Given the description of an element on the screen output the (x, y) to click on. 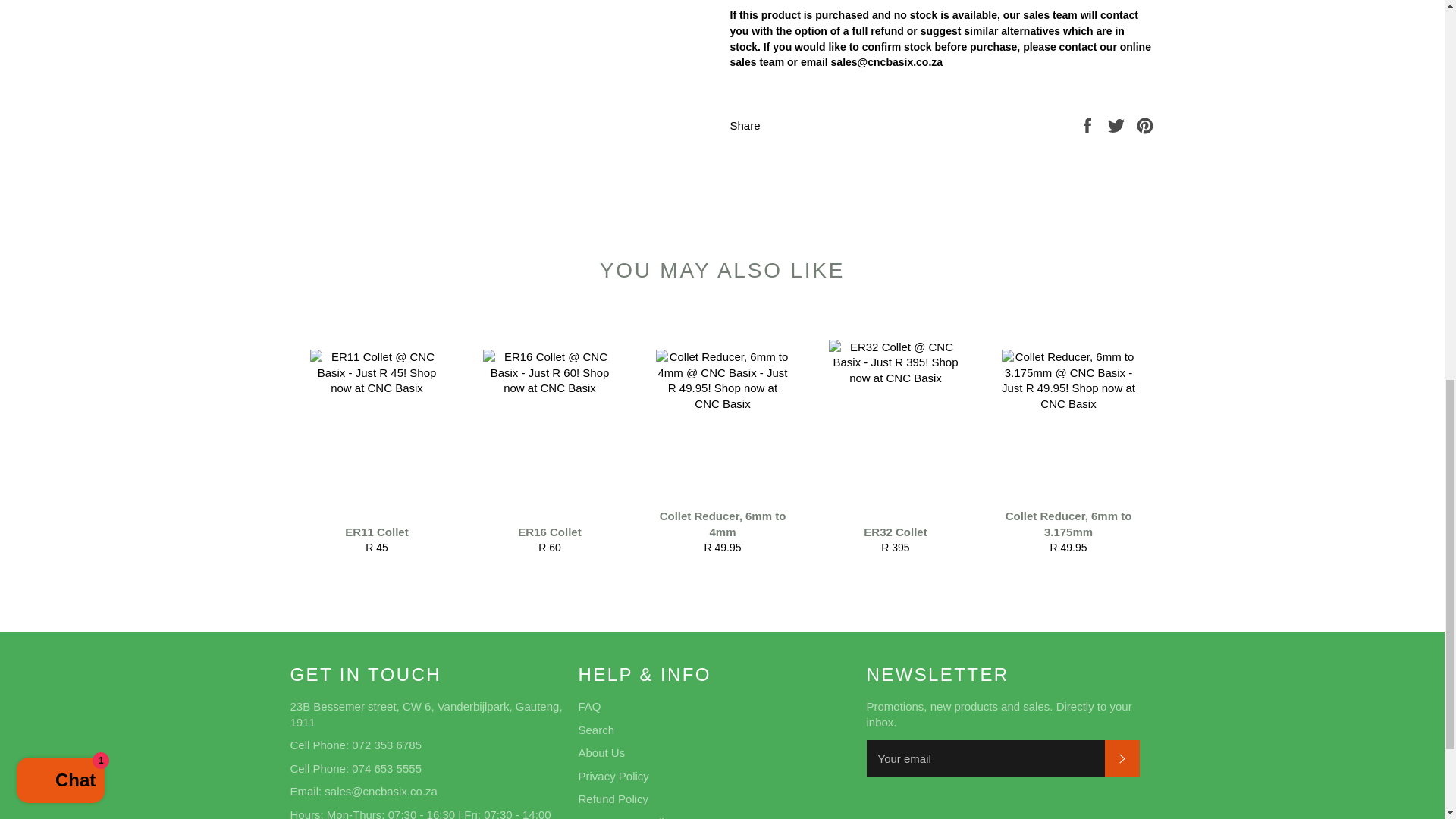
Pin on Pinterest (1067, 439)
Refund Policy (1144, 124)
Tweet on Twitter (612, 798)
About Us (1117, 124)
tel:0723536785 (601, 752)
Tweet on Twitter (894, 439)
Privacy Policy (387, 744)
Share on Facebook (1117, 124)
FAQ (612, 775)
Pin on Pinterest (1088, 124)
072 353 6785 (376, 439)
